Given the description of an element on the screen output the (x, y) to click on. 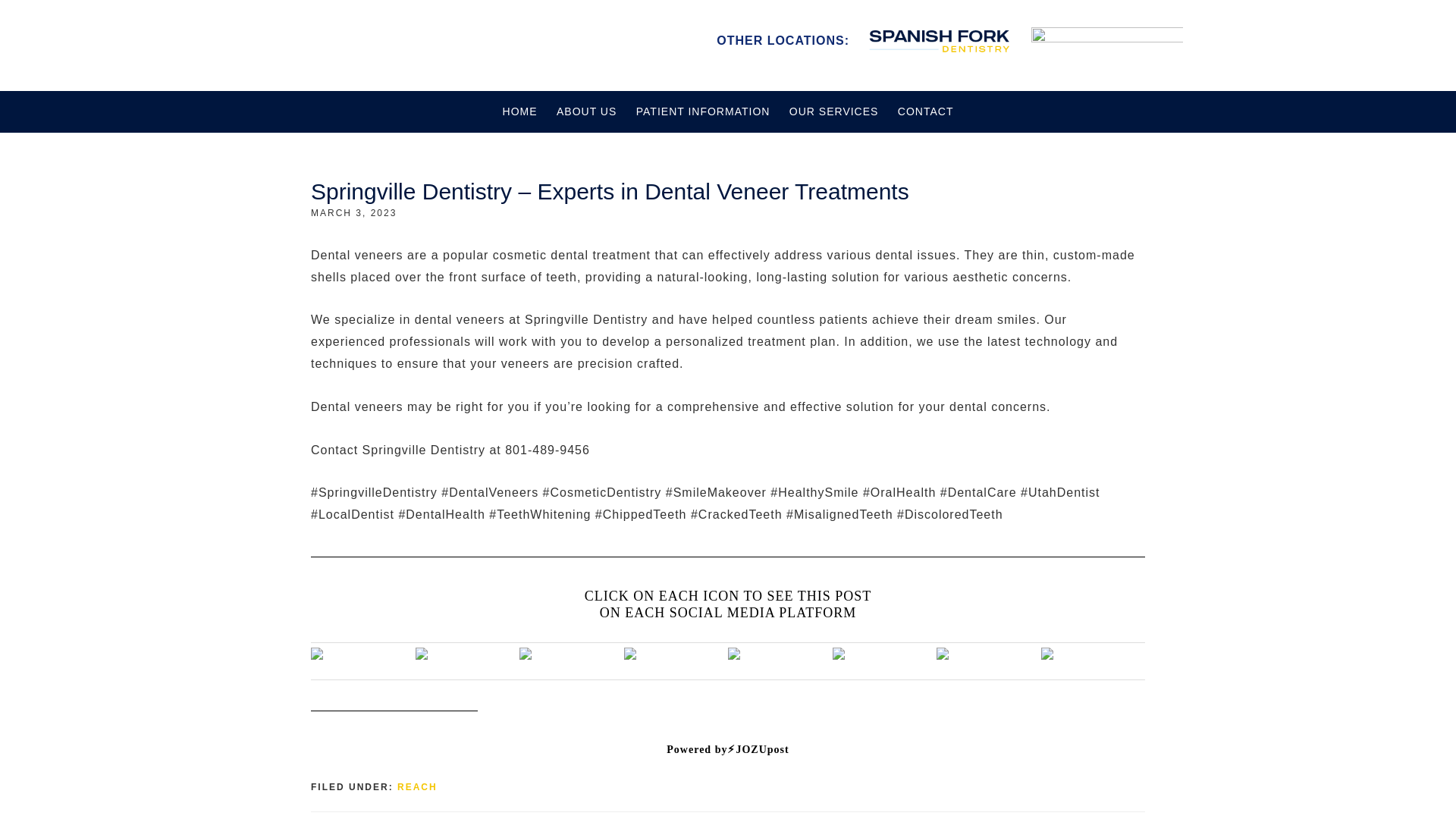
HOME (519, 111)
OUR SERVICES (833, 111)
PATIENT INFORMATION (702, 111)
ABOUT US (586, 111)
